Given the description of an element on the screen output the (x, y) to click on. 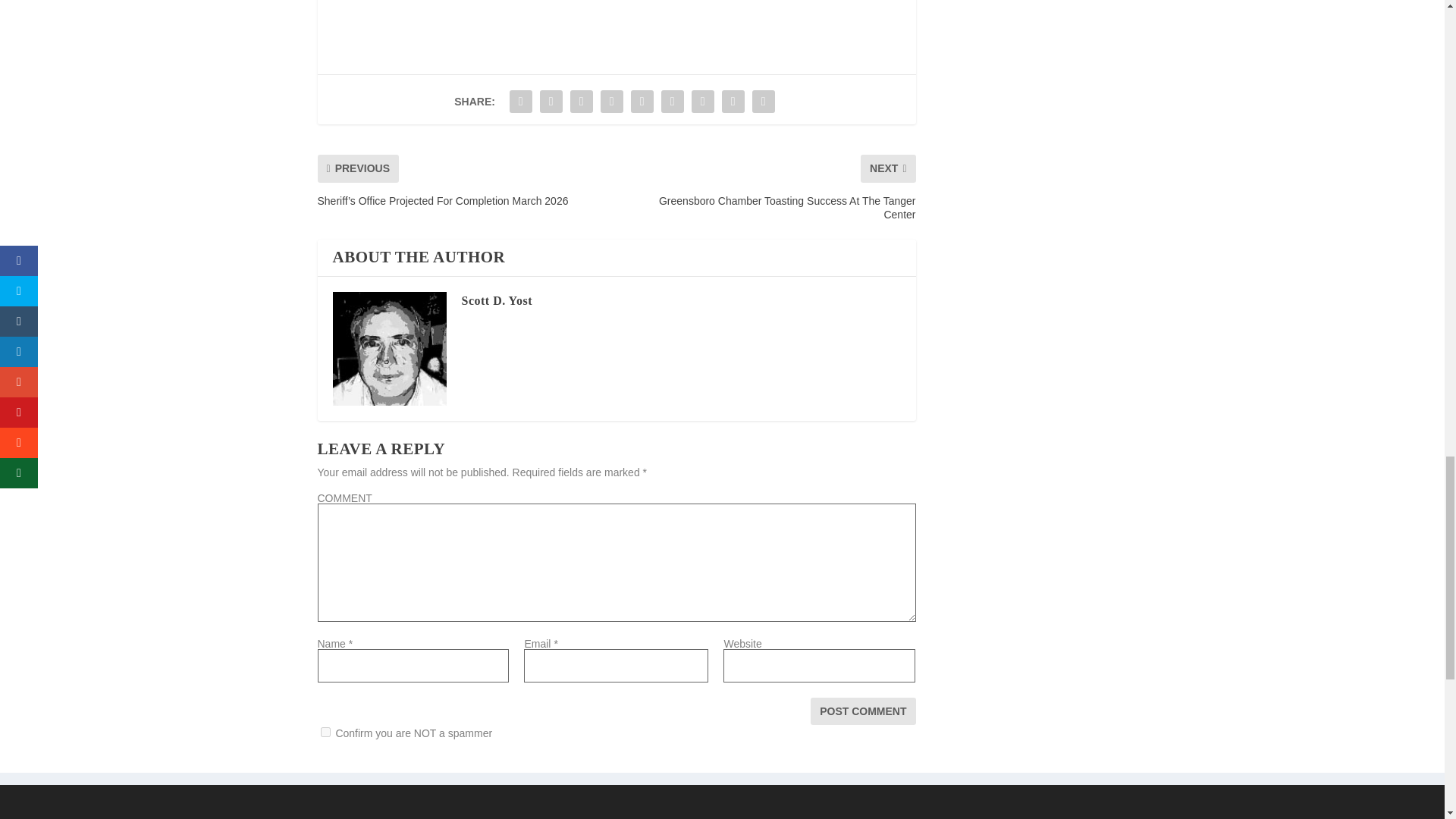
View all posts by Scott D. Yost (496, 300)
on (325, 732)
Post Comment (862, 710)
